Given the description of an element on the screen output the (x, y) to click on. 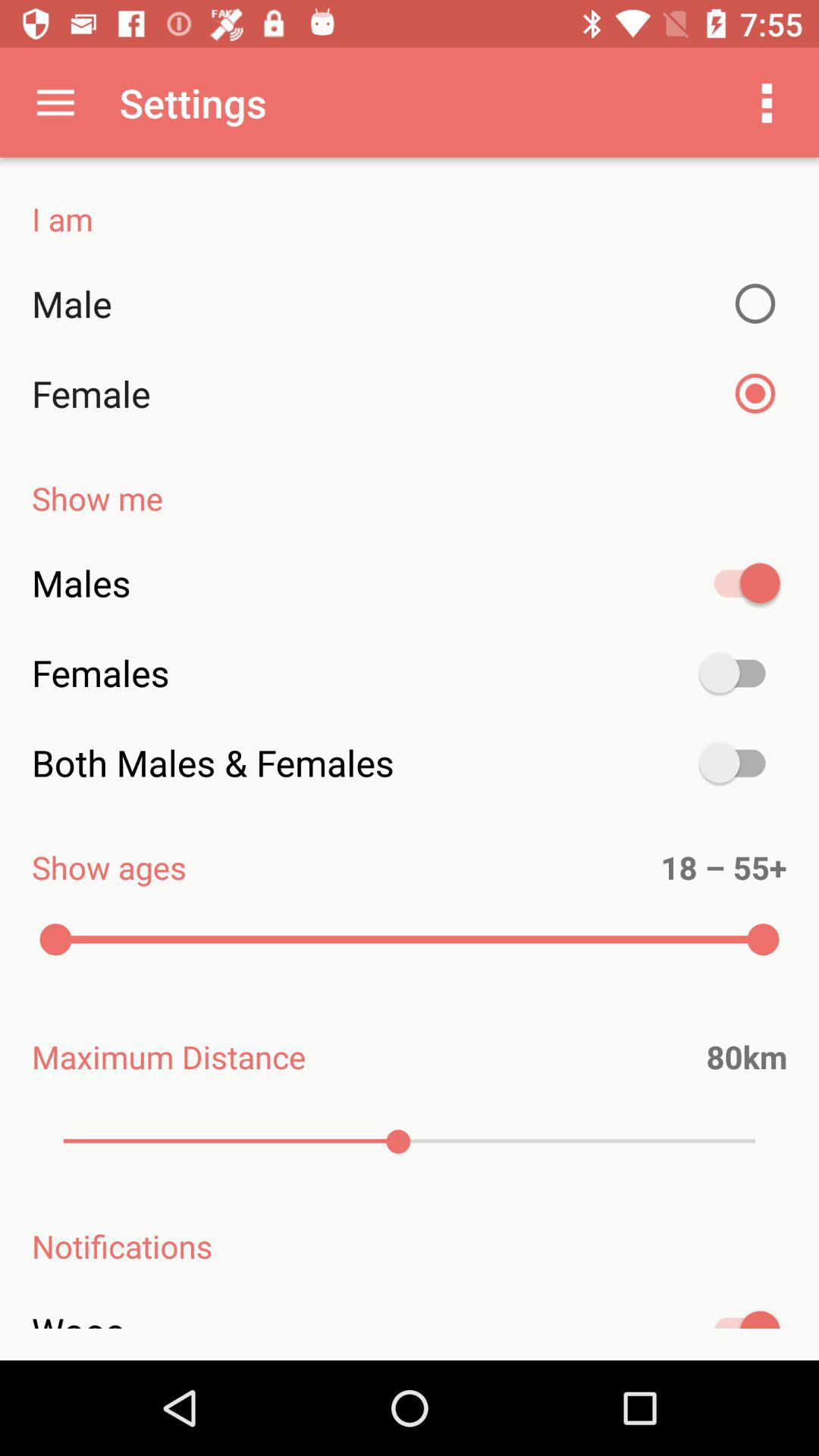
turn on icon to the left of settings app (55, 102)
